Given the description of an element on the screen output the (x, y) to click on. 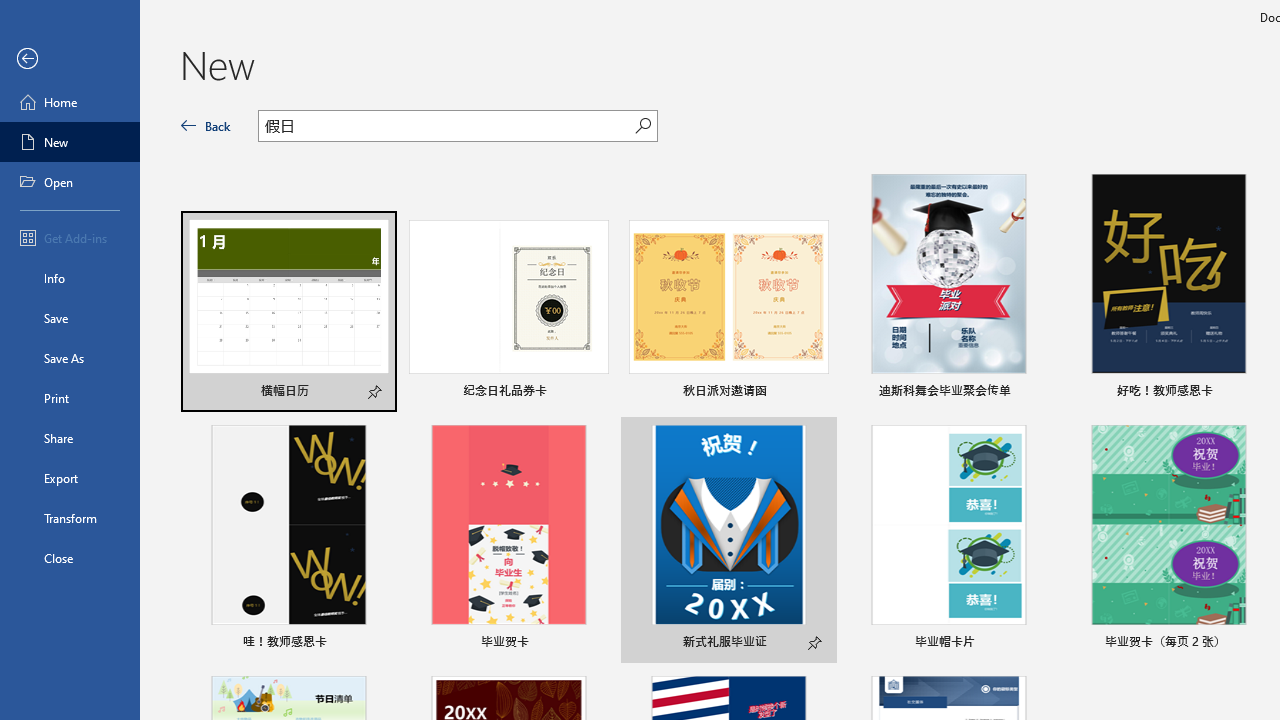
Print (69, 398)
Export (69, 477)
Info (69, 277)
Start searching (642, 125)
Search for online templates (446, 128)
